Given the description of an element on the screen output the (x, y) to click on. 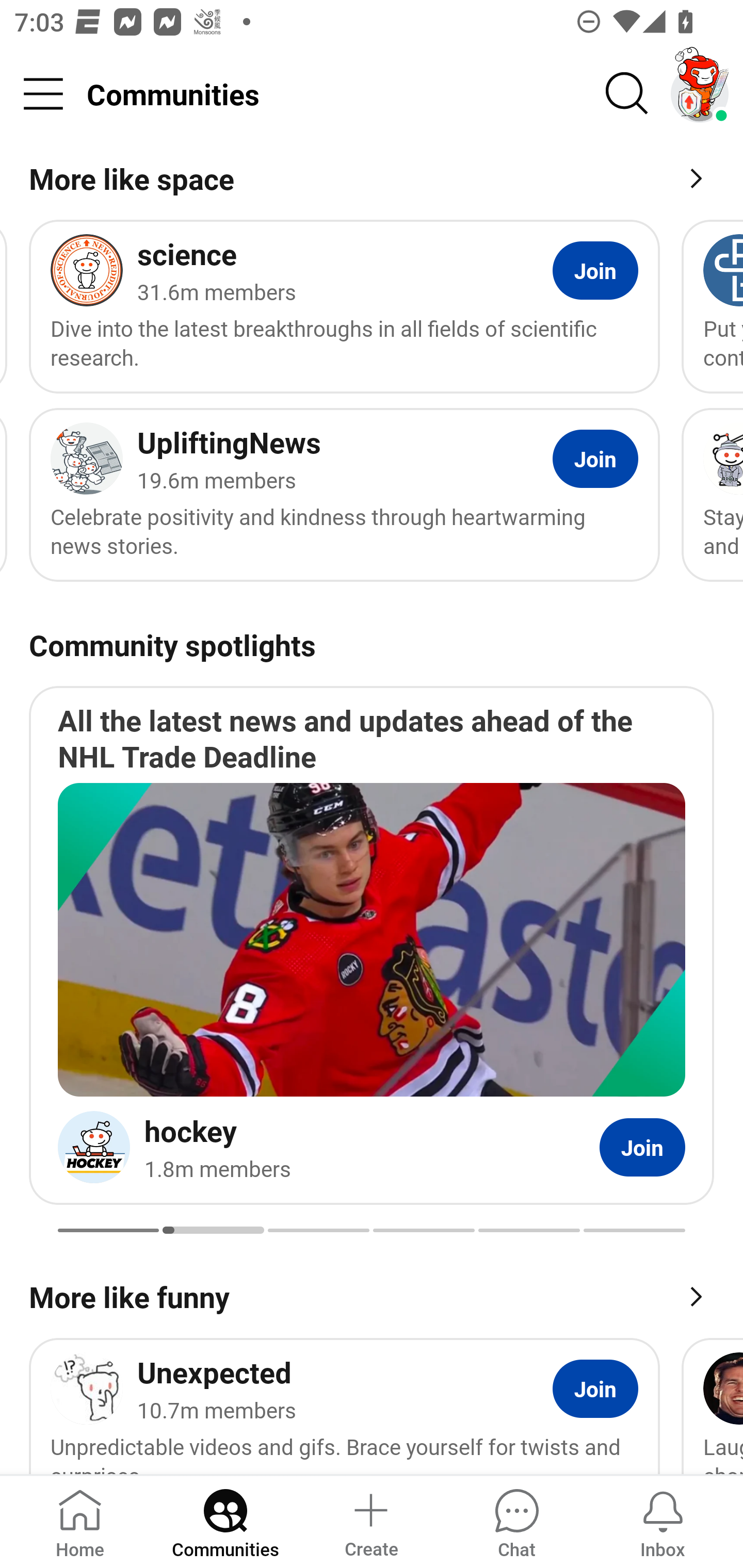
Community menu (43, 93)
Search (626, 93)
TestAppium002 account (699, 93)
More like space View more (371, 181)
More like funny View more (371, 1294)
Home (80, 1520)
Communities (225, 1520)
Create a post Create (370, 1520)
Chat (516, 1520)
Inbox (662, 1520)
